Given the description of an element on the screen output the (x, y) to click on. 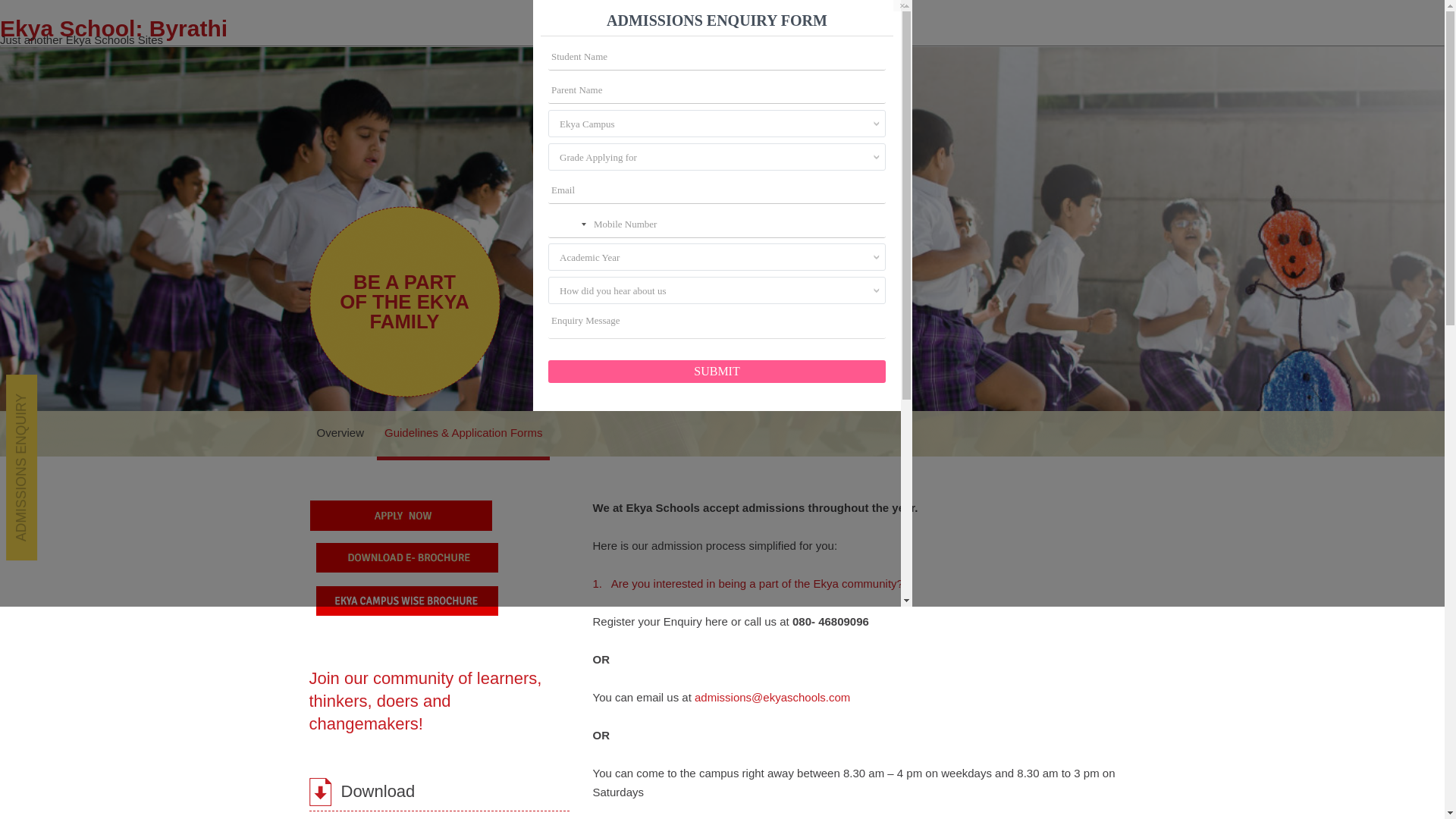
Overview (340, 433)
Ekya School: Byrathi (113, 27)
